Given the description of an element on the screen output the (x, y) to click on. 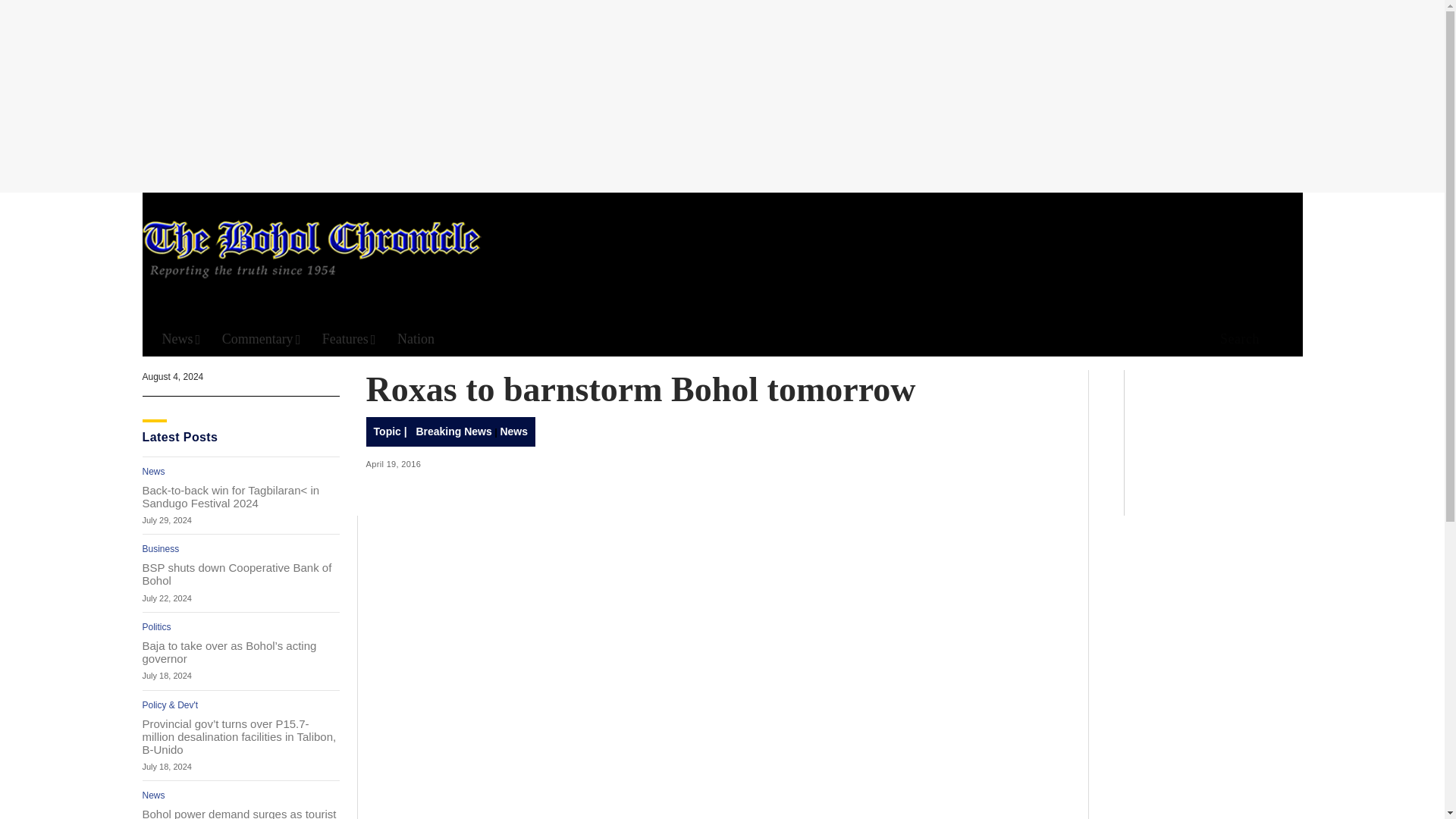
Commentary (261, 339)
BSP shuts down Cooperative Bank of Bohol (240, 574)
News (153, 795)
Business (160, 548)
Search (1234, 339)
News (153, 471)
Search (946, 157)
News (180, 339)
Politics (156, 626)
Nation (415, 339)
Bohol power demand surges as tourist arrivals rise (240, 813)
Features (348, 339)
